Given the description of an element on the screen output the (x, y) to click on. 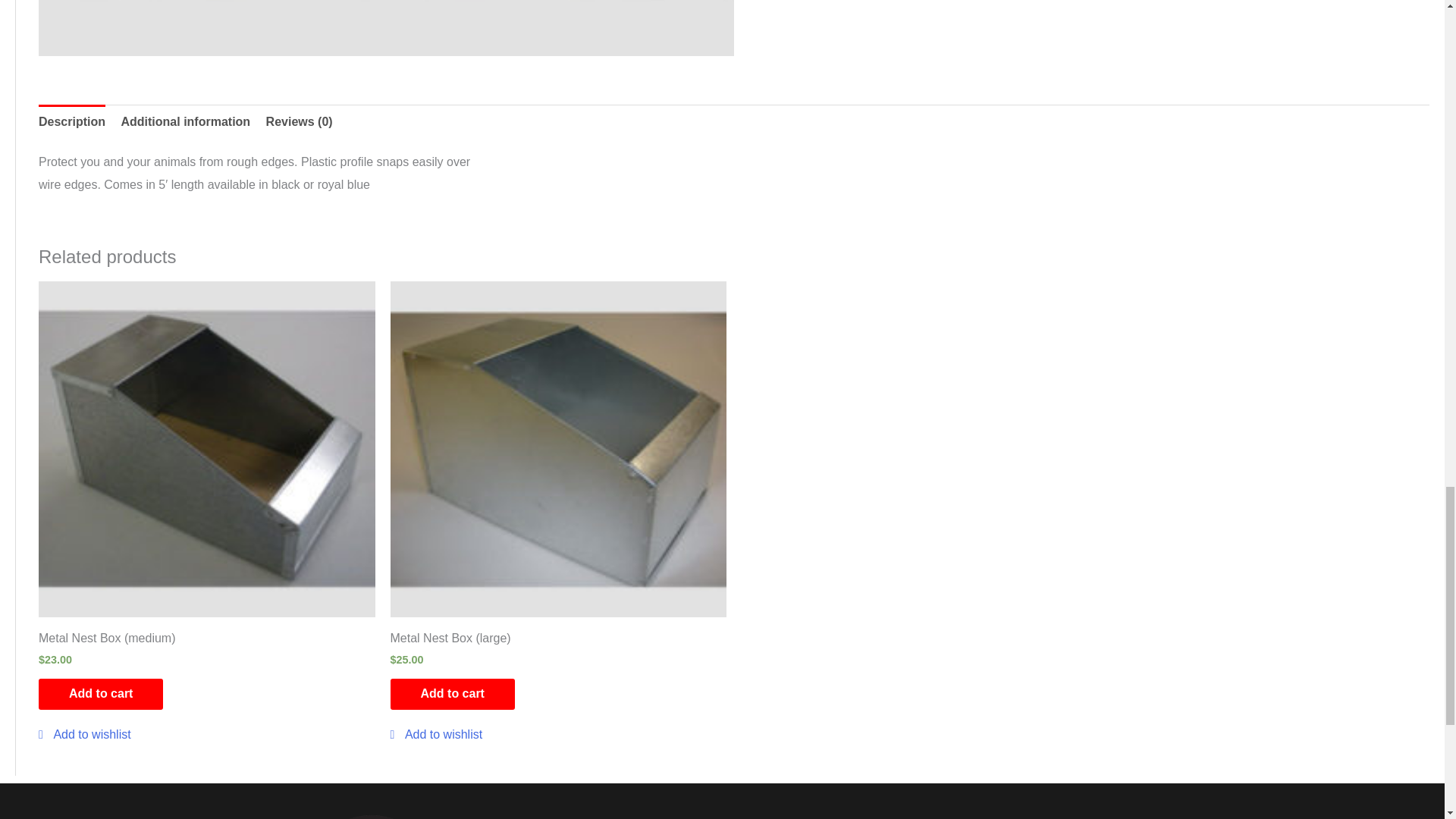
metal-nest-box-small (386, 28)
